Given the description of an element on the screen output the (x, y) to click on. 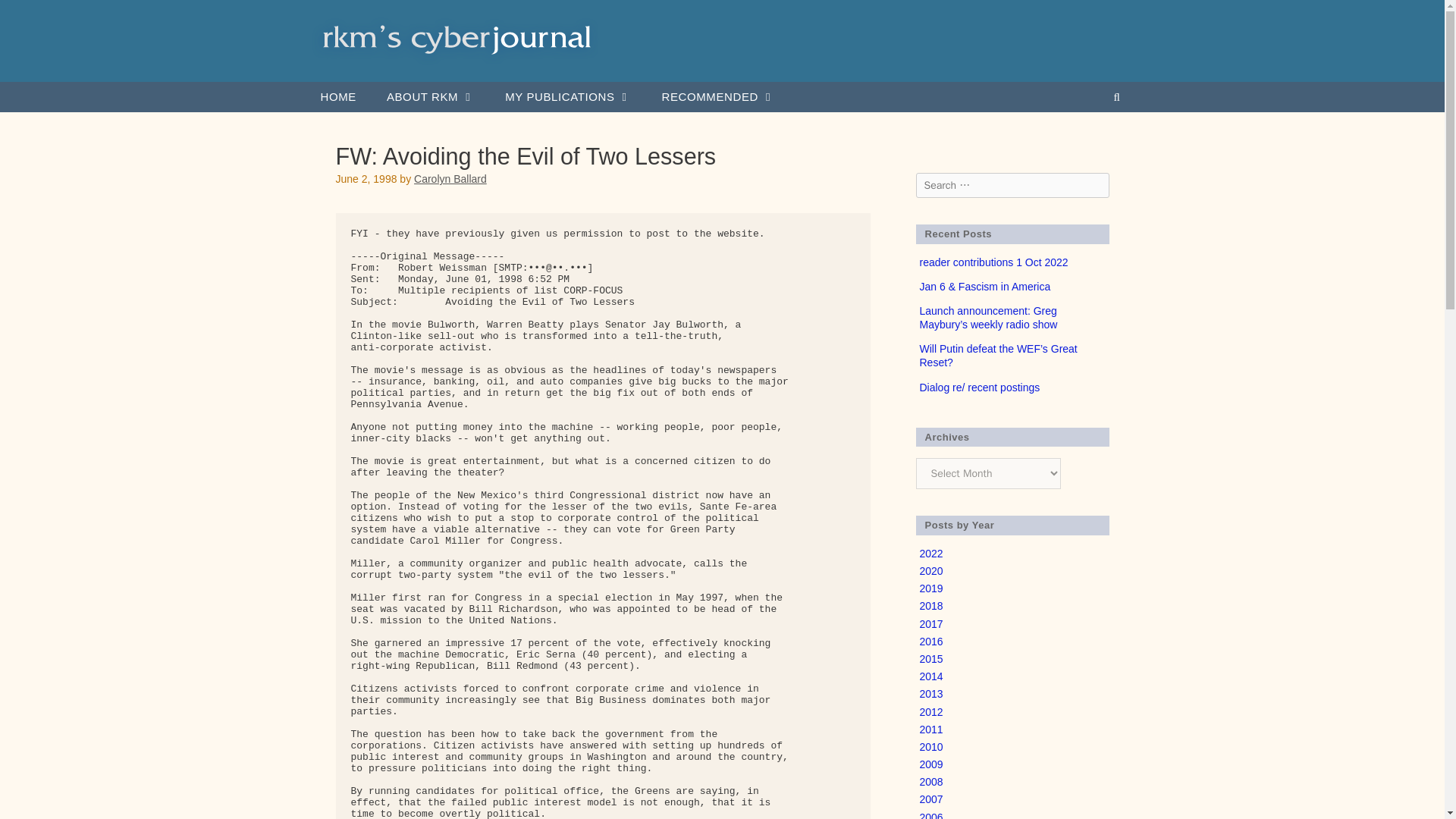
2015 (930, 658)
2014 (930, 676)
2022 (930, 553)
Carolyn Ballard (449, 178)
2019 (930, 588)
2018 (930, 605)
HOME (337, 96)
2016 (930, 641)
Search (32, 16)
ABOUT RKM (430, 96)
